Given the description of an element on the screen output the (x, y) to click on. 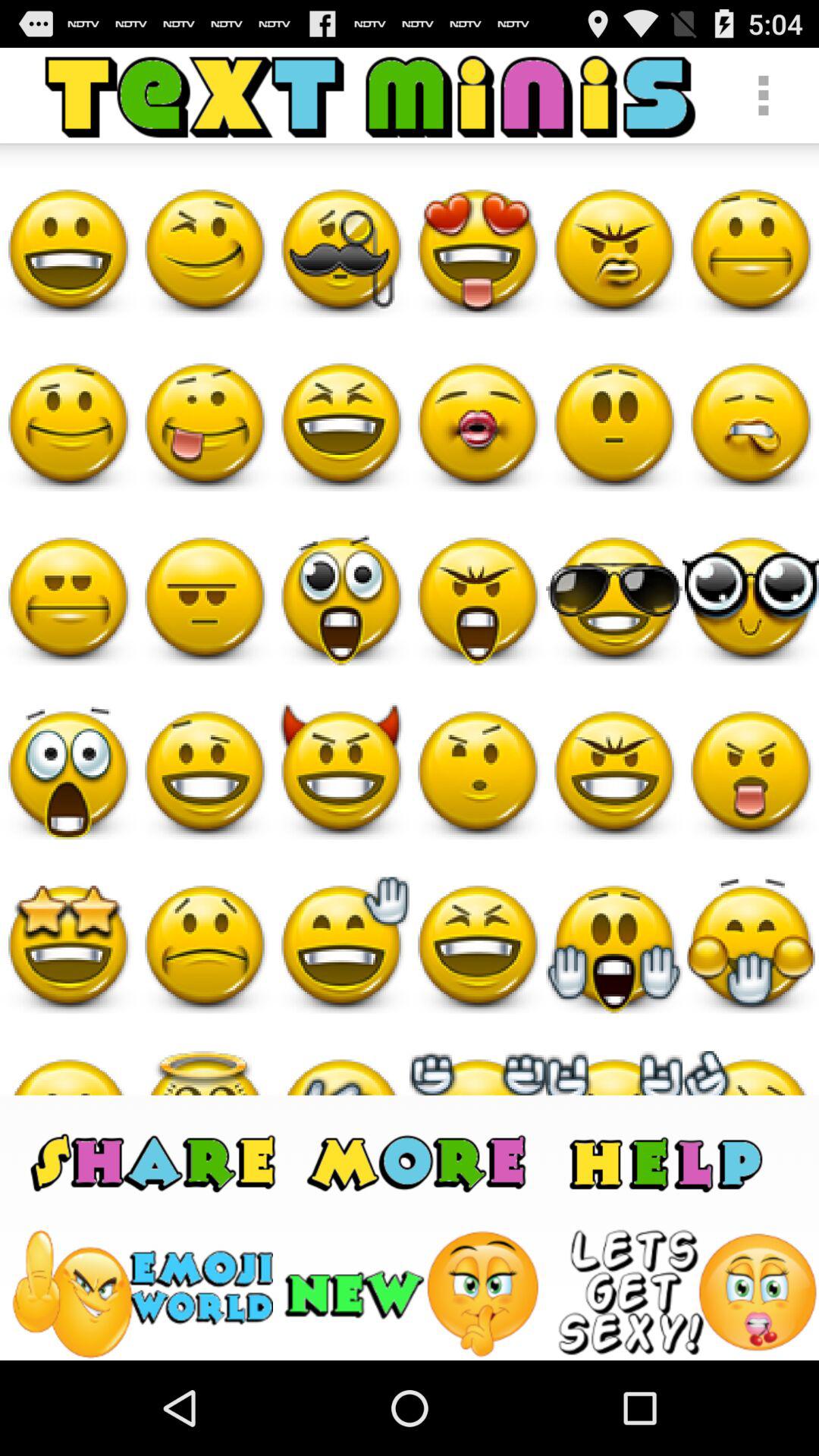
select this tile (141, 1293)
